Given the description of an element on the screen output the (x, y) to click on. 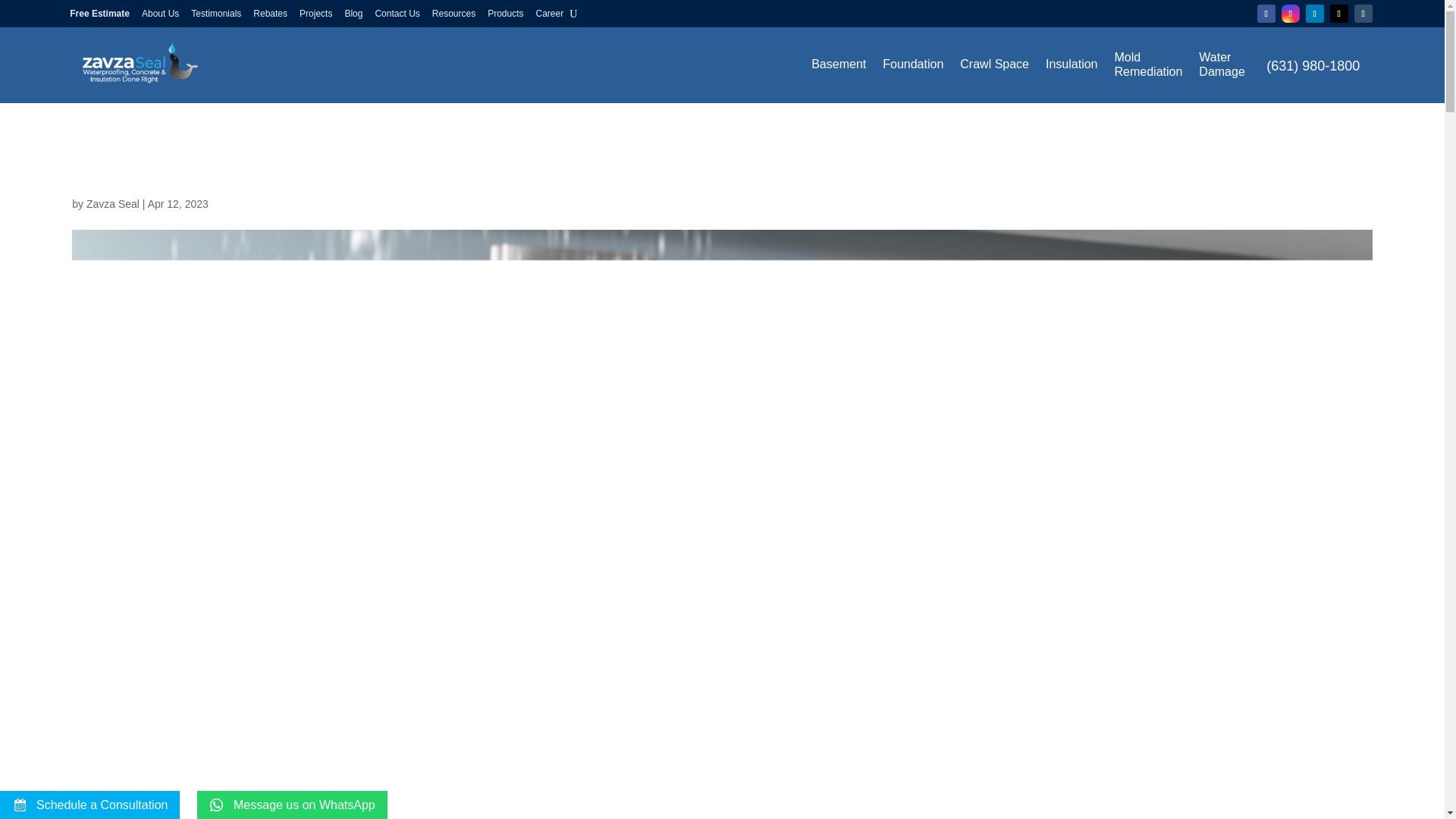
Follow on X (1339, 13)
Follow on Facebook (1266, 13)
Resources (454, 14)
Follow on Instagram (1290, 13)
Products (504, 14)
Blog (352, 14)
Posts by Zavza Seal (112, 203)
Basement (838, 63)
About Us (160, 14)
Follow on tumblr (1363, 13)
Follow on LinkedIn (1314, 13)
Free Estimate (99, 14)
Contact Us (396, 14)
Projects (315, 14)
Foundation (912, 63)
